Given the description of an element on the screen output the (x, y) to click on. 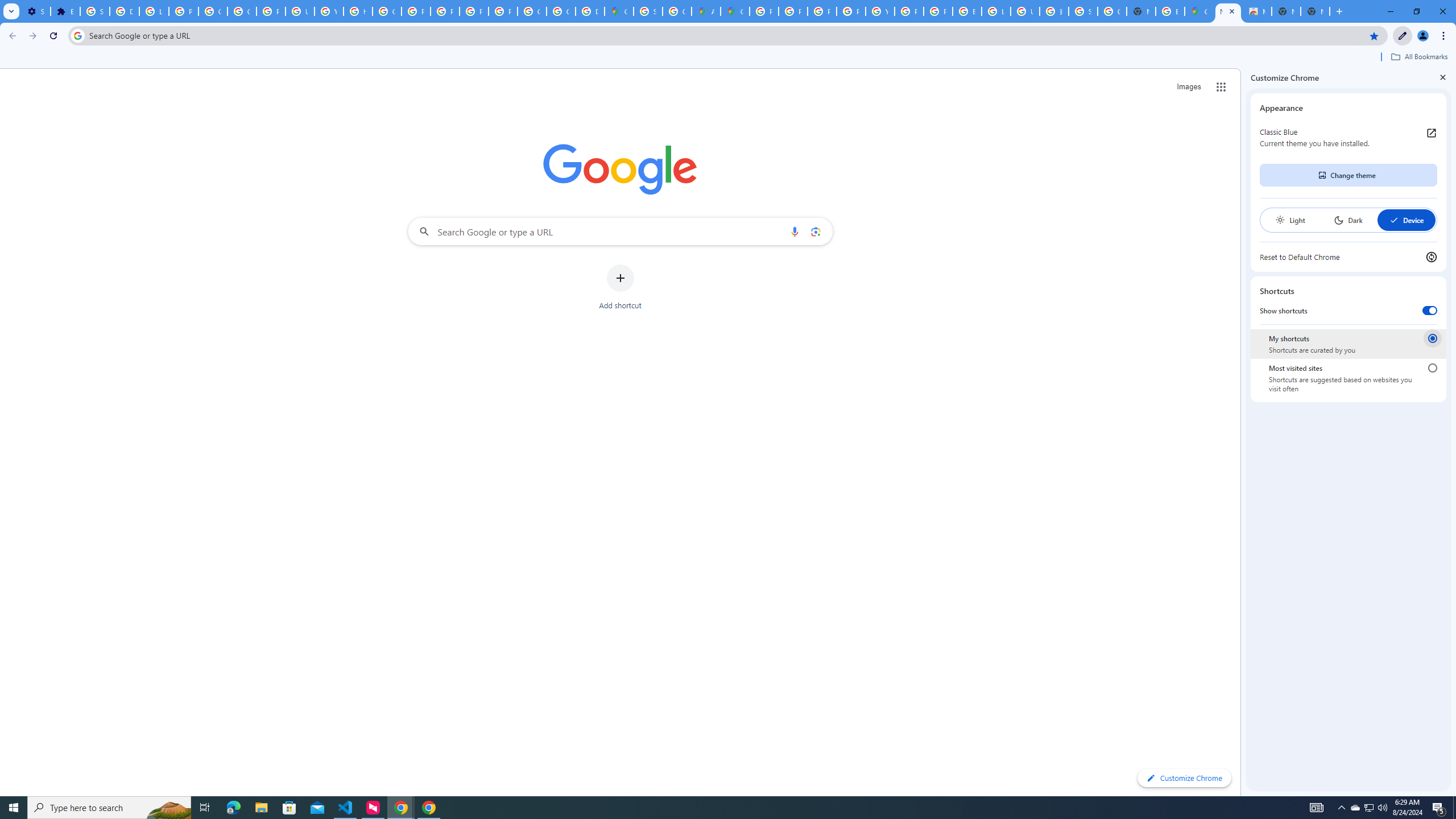
Add shortcut (620, 287)
https://scholar.google.com/ (357, 11)
Search Google or type a URL (619, 230)
Settings - On startup (35, 11)
Explore new street-level details - Google Maps Help (1169, 11)
Light (1289, 219)
Google Maps (734, 11)
Dark (1348, 219)
